Given the description of an element on the screen output the (x, y) to click on. 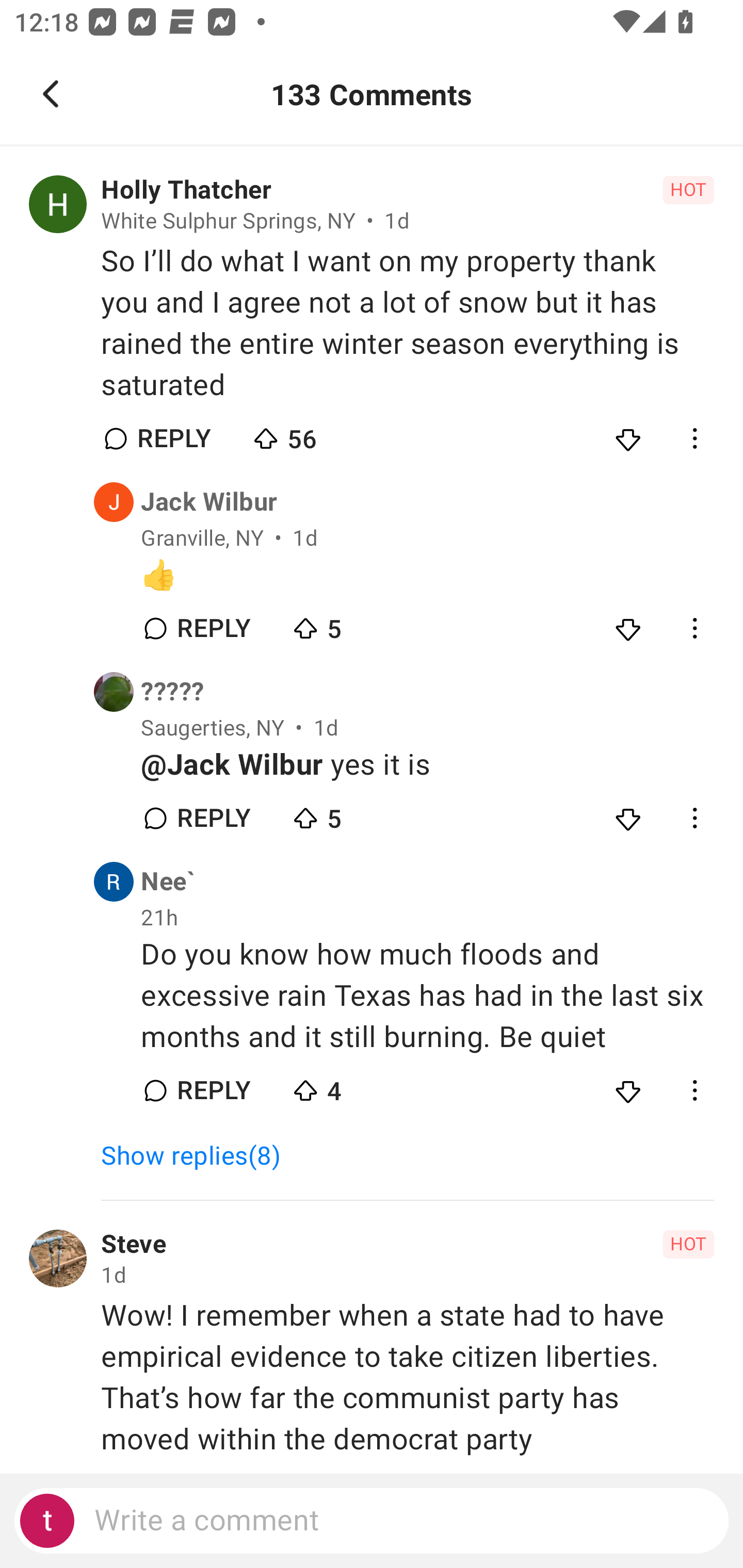
Navigate up (50, 93)
Holly Thatcher (186, 190)
56 (320, 433)
REPLY (173, 438)
Jack Wilbur (209, 502)
👍 (427, 575)
5 (360, 623)
REPLY (213, 627)
????? (172, 692)
@Jack Wilbur yes it is   (427, 764)
5 (360, 813)
REPLY (213, 817)
Nee` (167, 881)
4 (360, 1085)
REPLY (213, 1090)
Show replies(8) (199, 1156)
Steve (133, 1244)
Write a comment (371, 1520)
